Given the description of an element on the screen output the (x, y) to click on. 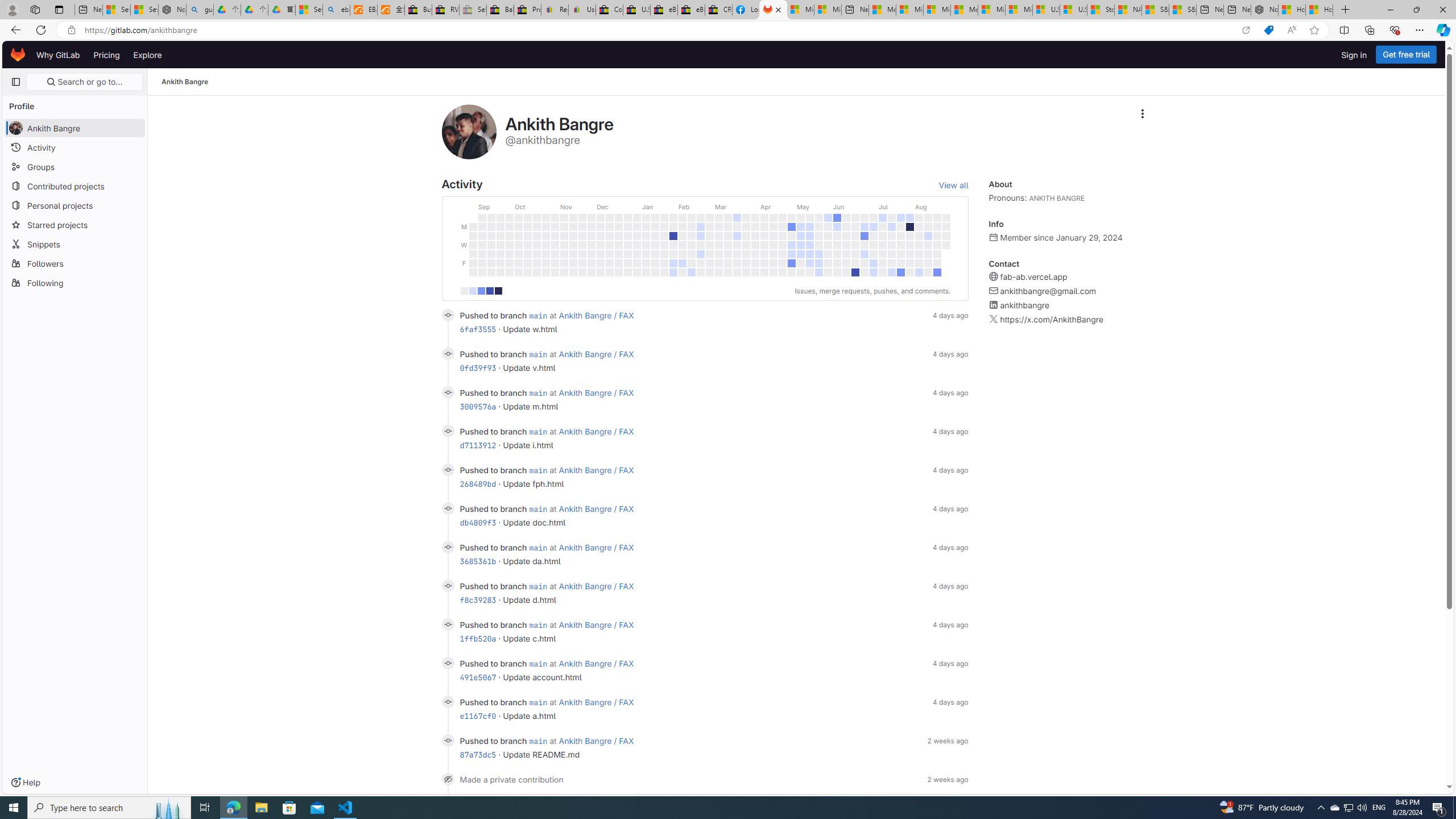
3009576a (478, 406)
Restore (1416, 9)
